Given the description of an element on the screen output the (x, y) to click on. 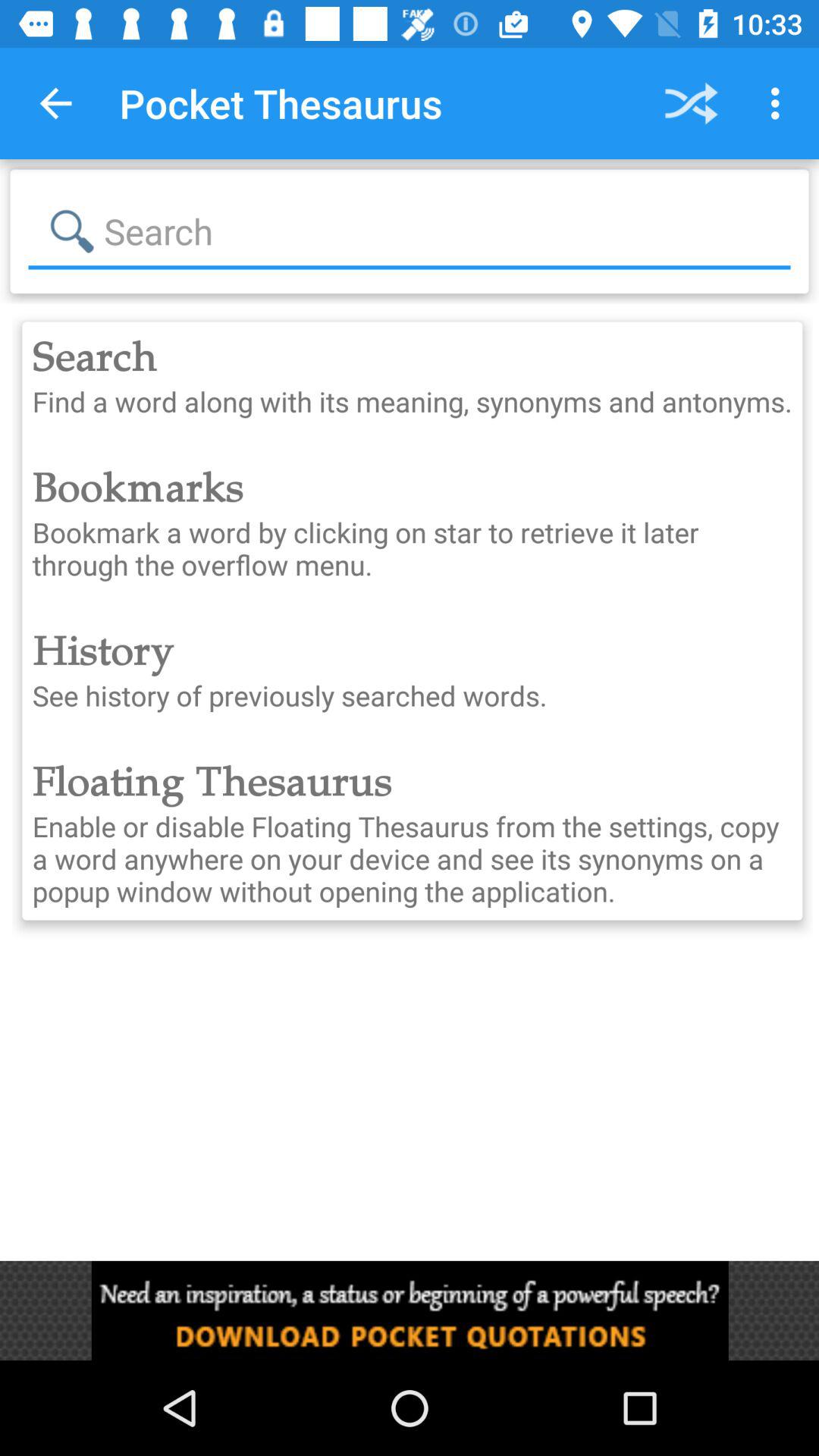
go to search (409, 231)
